Given the description of an element on the screen output the (x, y) to click on. 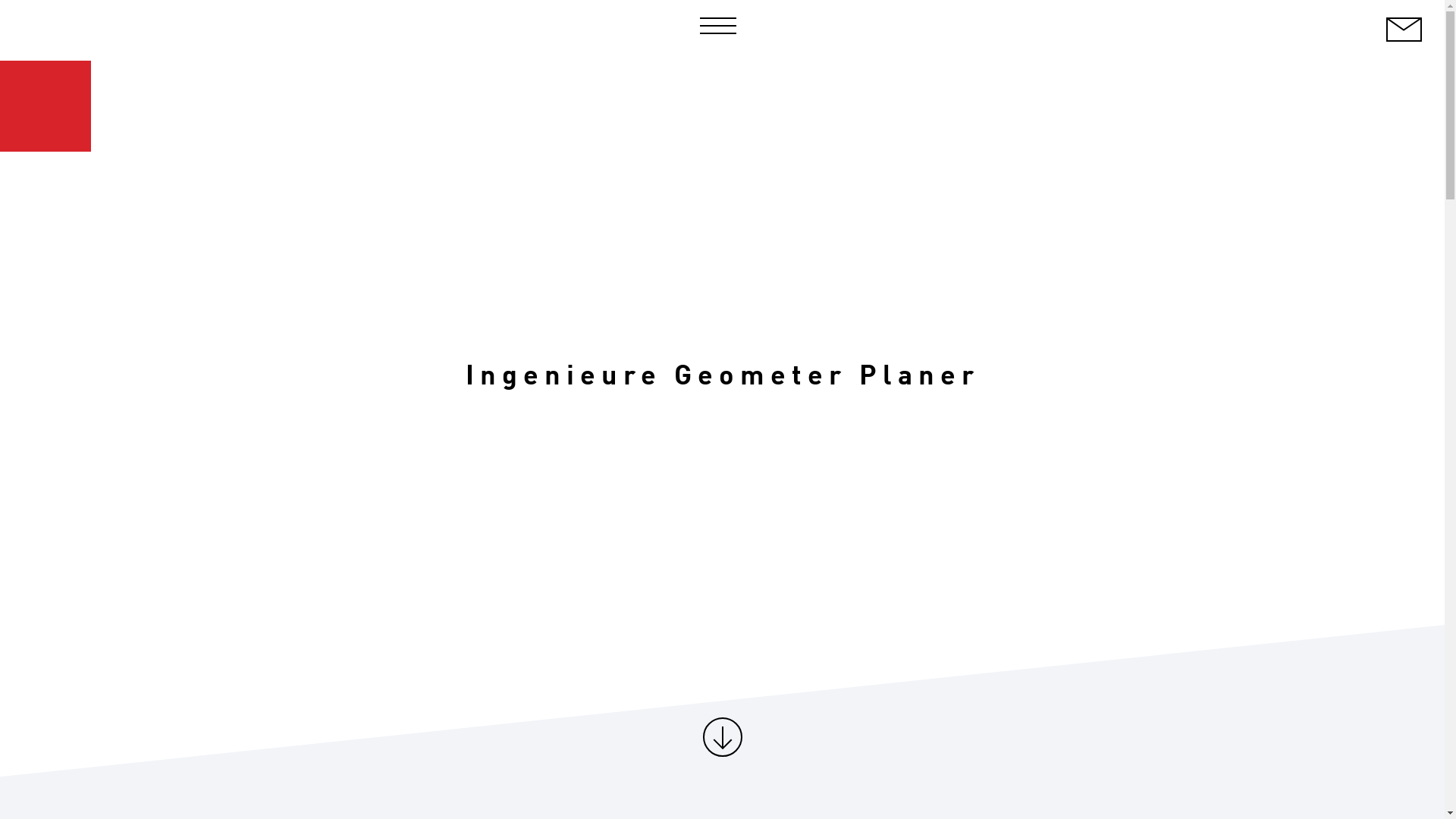
Navigation Menu Element type: hover (721, 25)
